Given the description of an element on the screen output the (x, y) to click on. 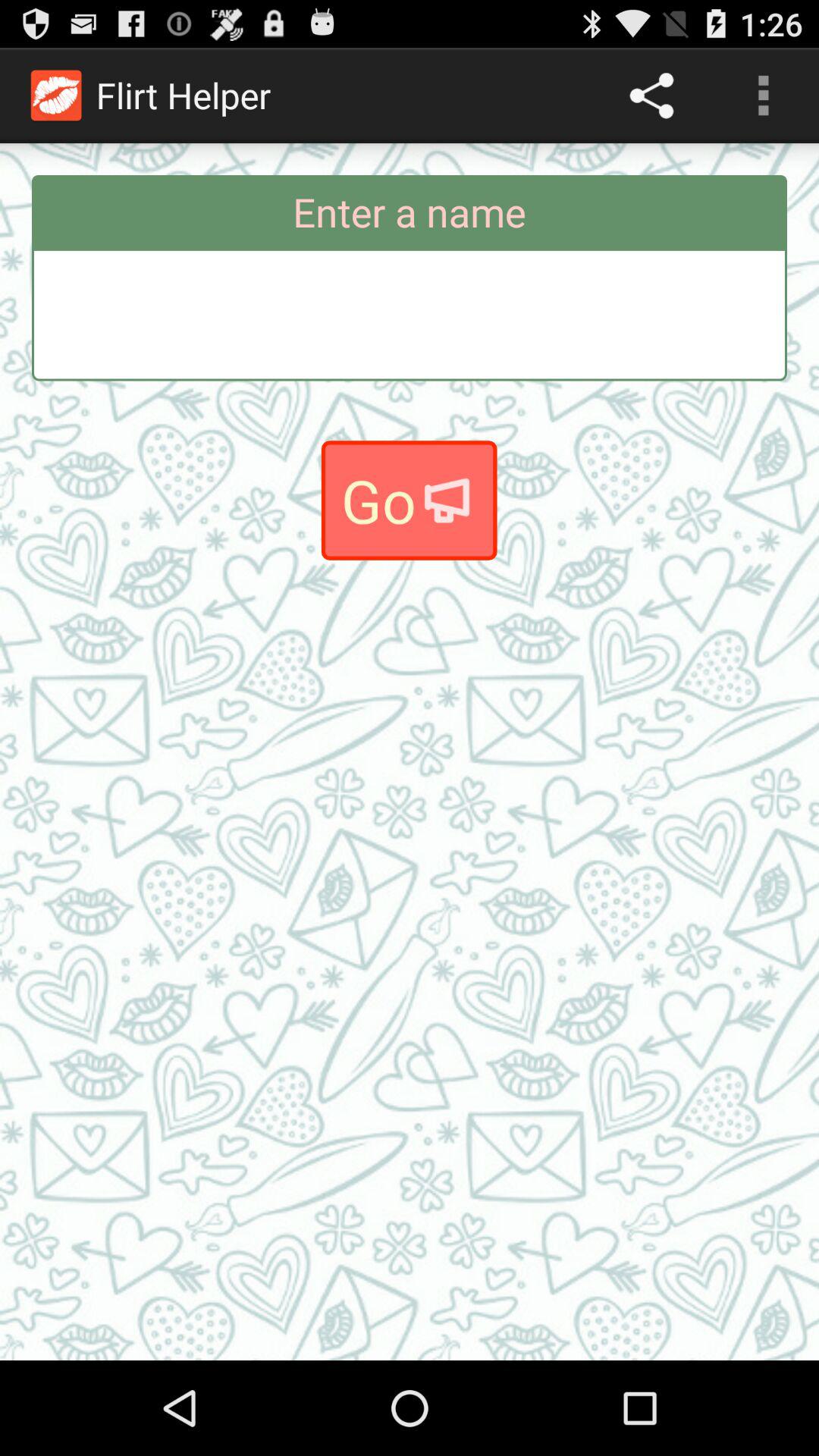
type name (409, 314)
